Given the description of an element on the screen output the (x, y) to click on. 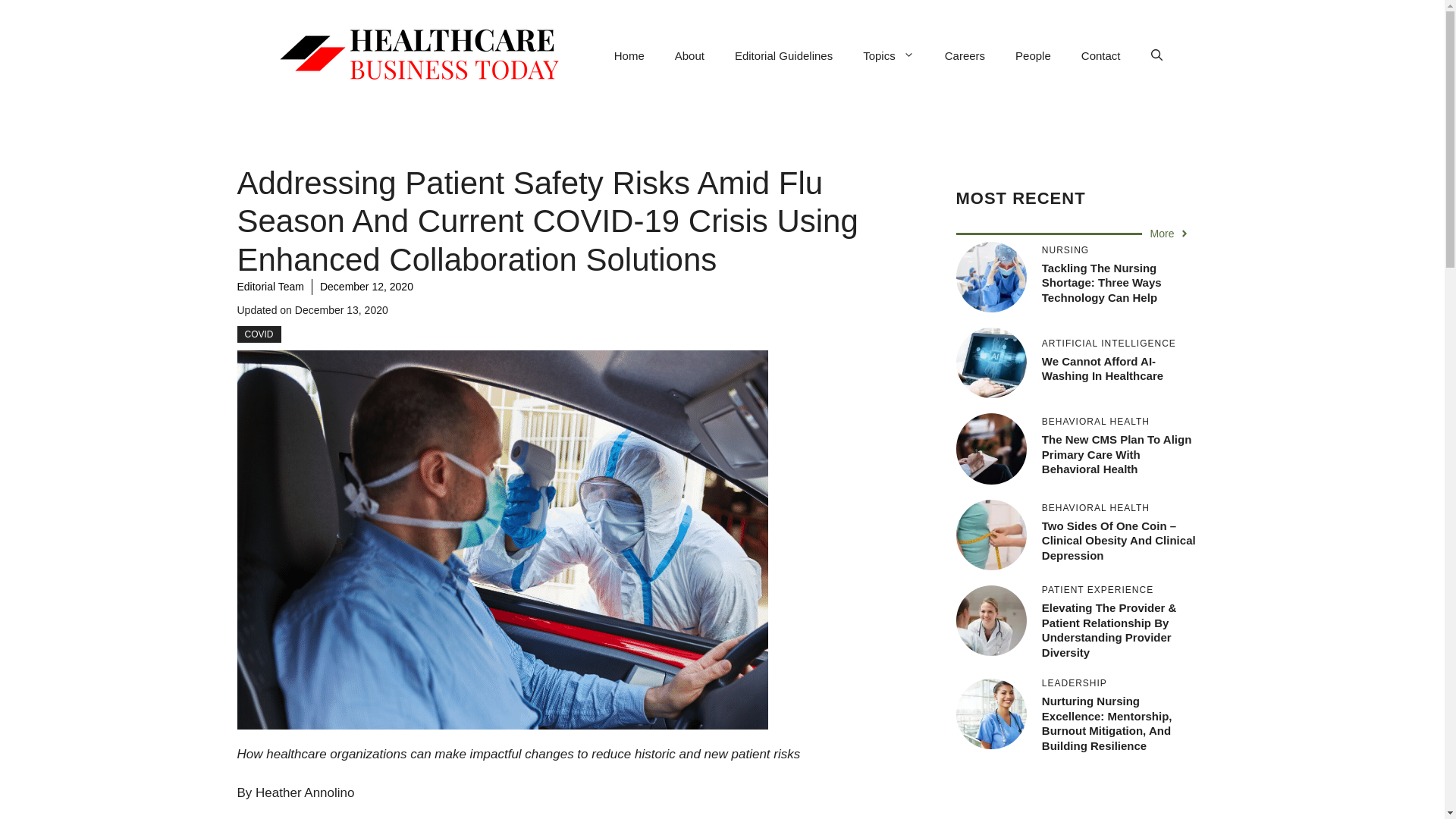
More (1170, 233)
Contact (1100, 55)
Careers (965, 55)
Topics (888, 55)
Home (628, 55)
People (1032, 55)
About (689, 55)
Editorial Team (268, 286)
COVID (258, 334)
We Cannot Afford AI-Washing In Healthcare (1102, 368)
Editorial Guidelines (783, 55)
